Given the description of an element on the screen output the (x, y) to click on. 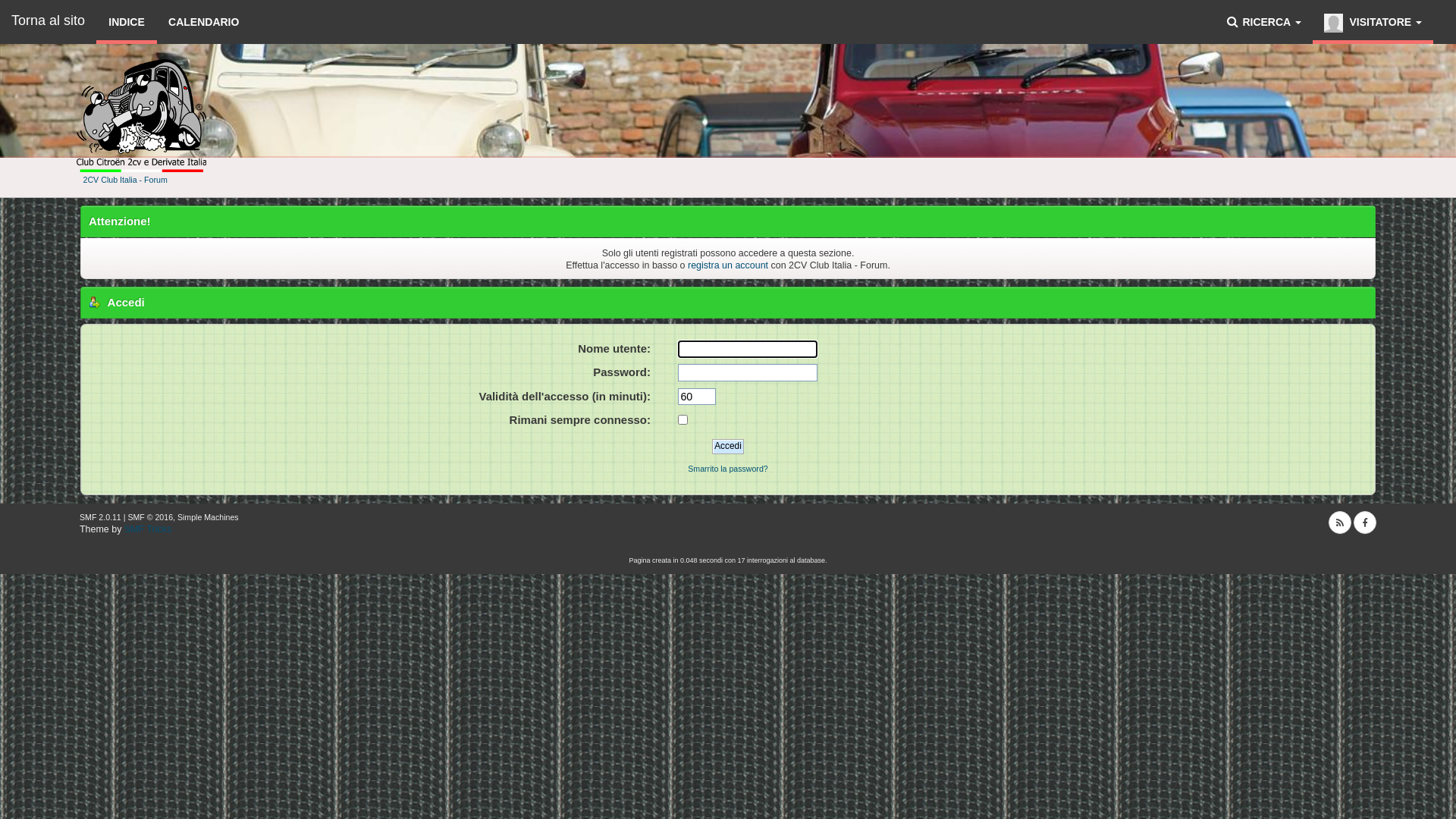
SMF 2.0.11 Element type: text (100, 516)
CALENDARIO Element type: text (203, 21)
Accedi Element type: text (727, 446)
VISITATORE Element type: text (1372, 21)
Torna al sito Element type: text (48, 18)
SMF Tricks Element type: text (147, 529)
registra un account Element type: text (727, 265)
Simple Machines Element type: text (207, 516)
INDICE Element type: text (126, 21)
RICERCA Element type: text (1263, 21)
Smarrito la password? Element type: text (727, 468)
2CV Club Italia - Forum Element type: text (125, 179)
on Element type: text (682, 419)
